Given the description of an element on the screen output the (x, y) to click on. 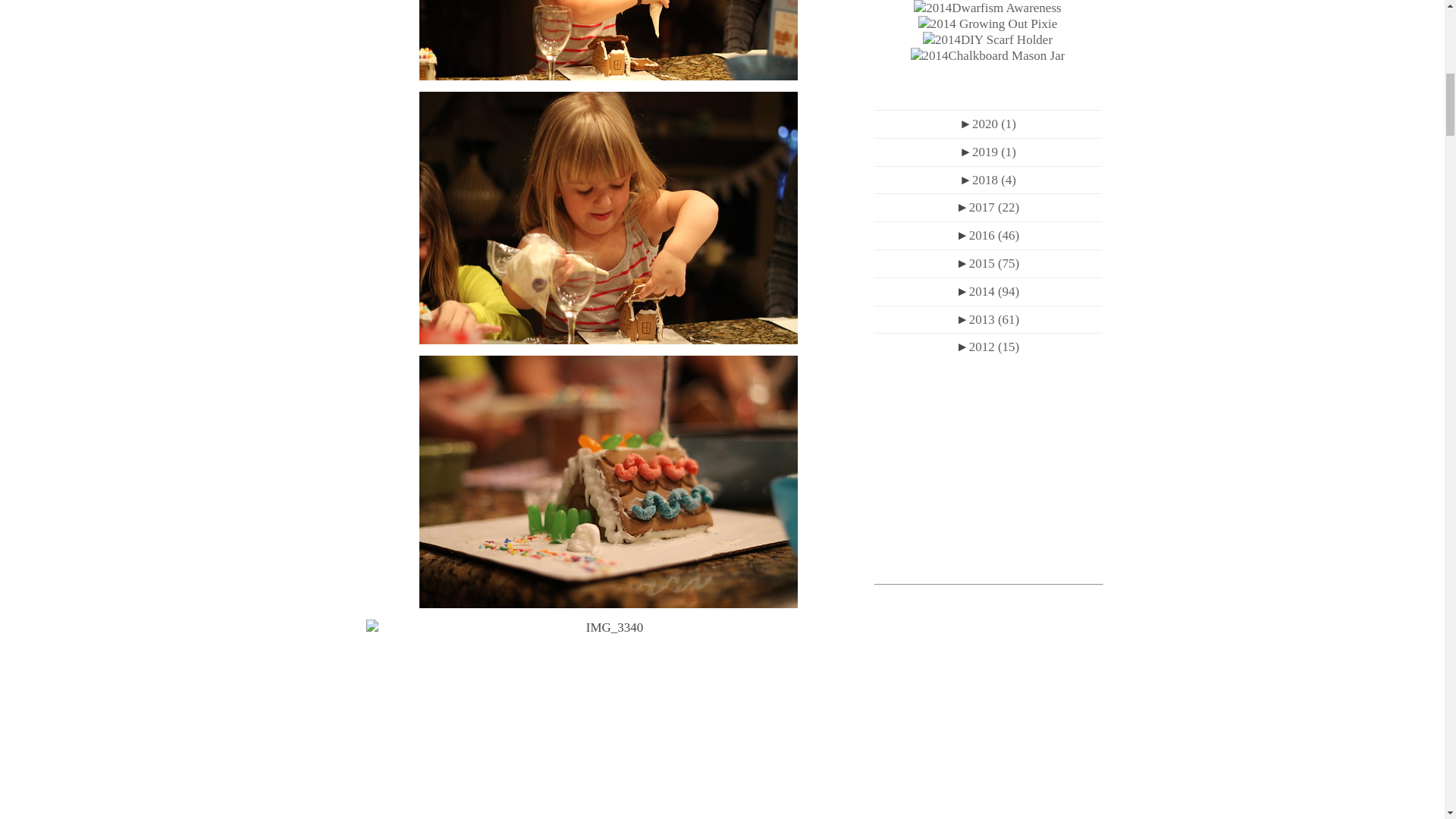
click to expand (965, 124)
click to expand (965, 179)
click to expand (965, 151)
